Given the description of an element on the screen output the (x, y) to click on. 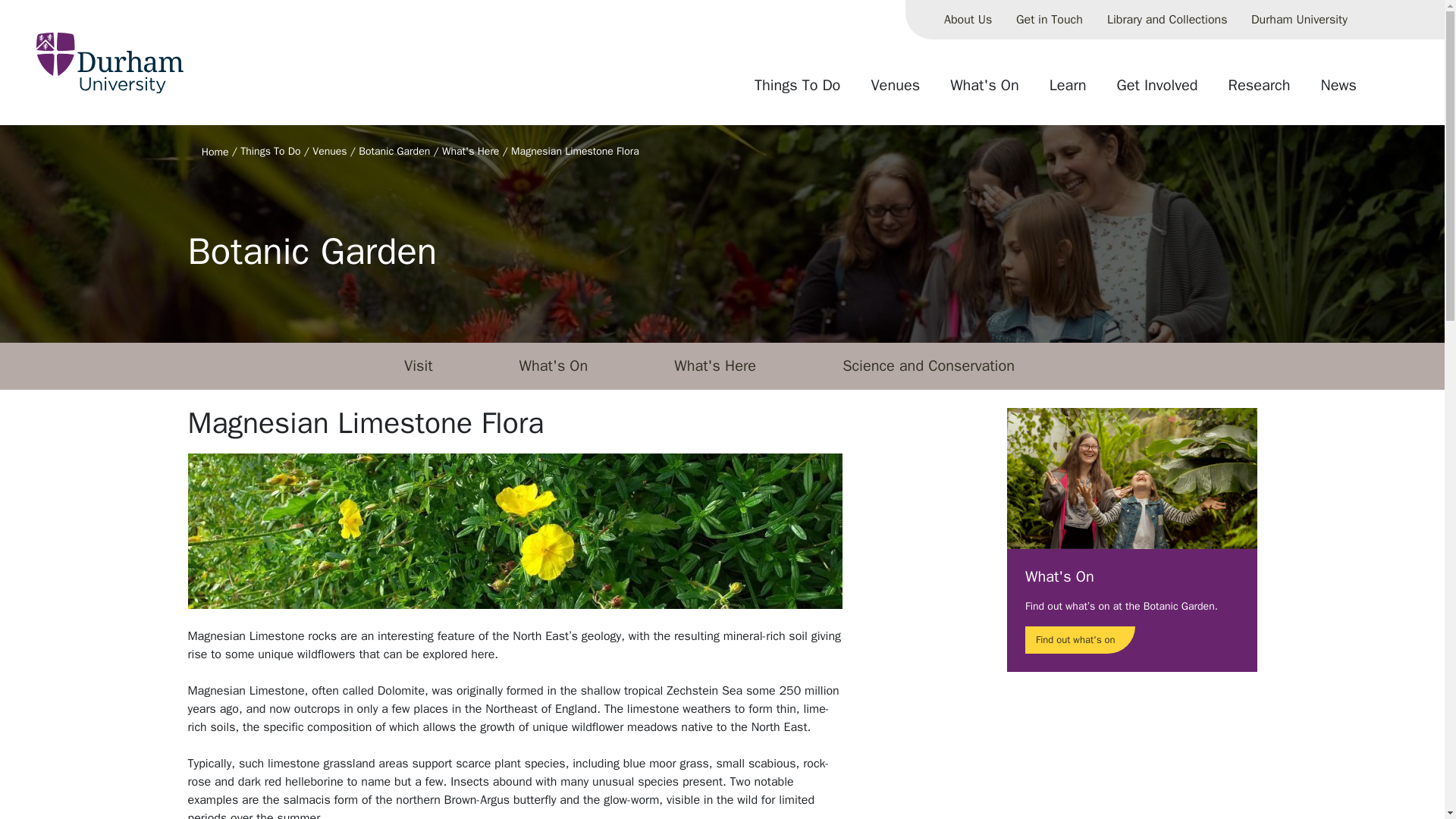
Research (1259, 91)
Get Involved (1157, 91)
Library and Collections (1166, 19)
Durham University (1299, 19)
Venues (895, 91)
What's On (983, 91)
Learn (1067, 91)
Things To Do (796, 91)
News (1337, 91)
